Given the description of an element on the screen output the (x, y) to click on. 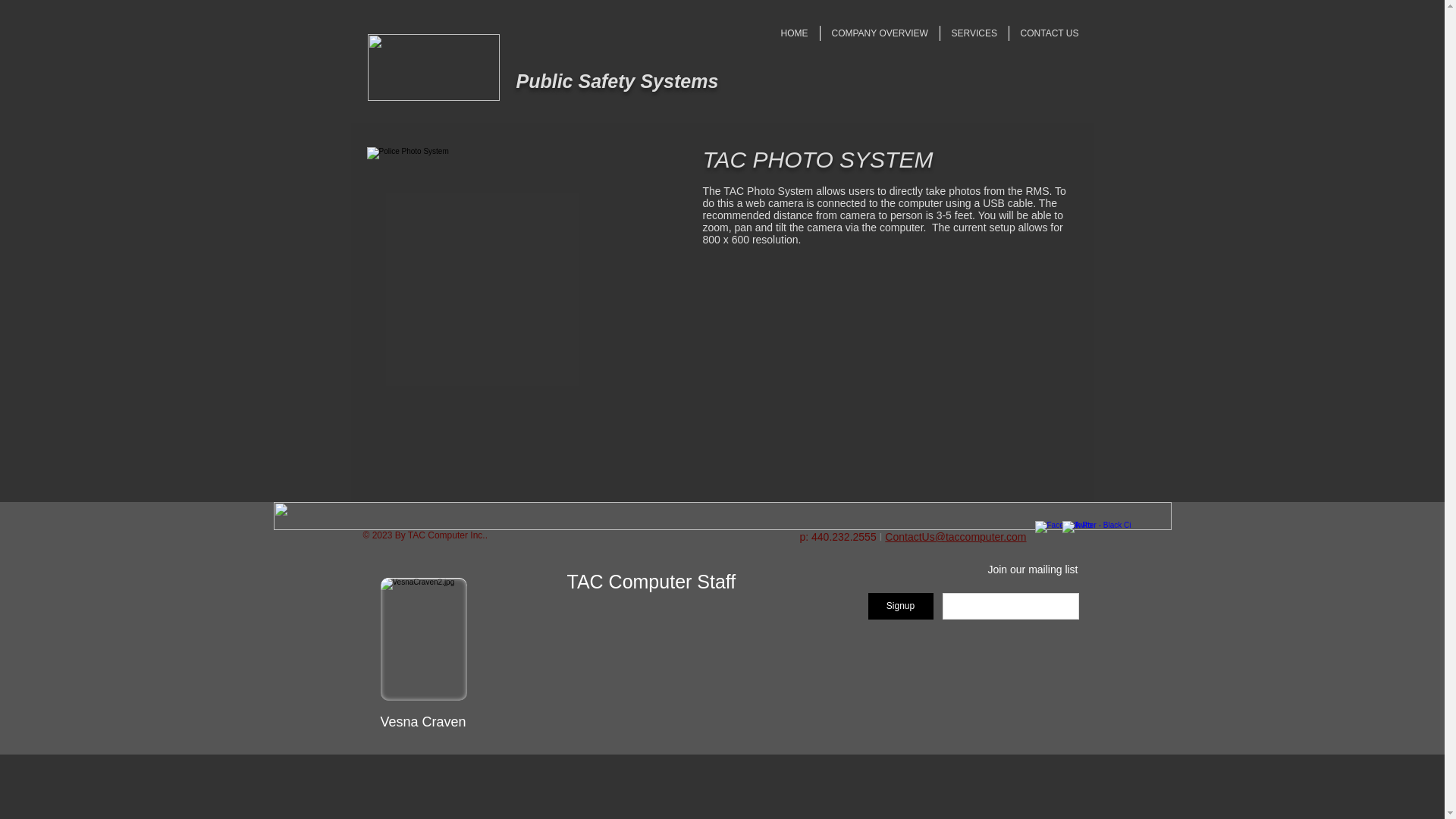
CONTACT US (1049, 32)
Signup (900, 605)
COMPANY OVERVIEW (880, 32)
SERVICES (974, 32)
HOME (793, 32)
